Given the description of an element on the screen output the (x, y) to click on. 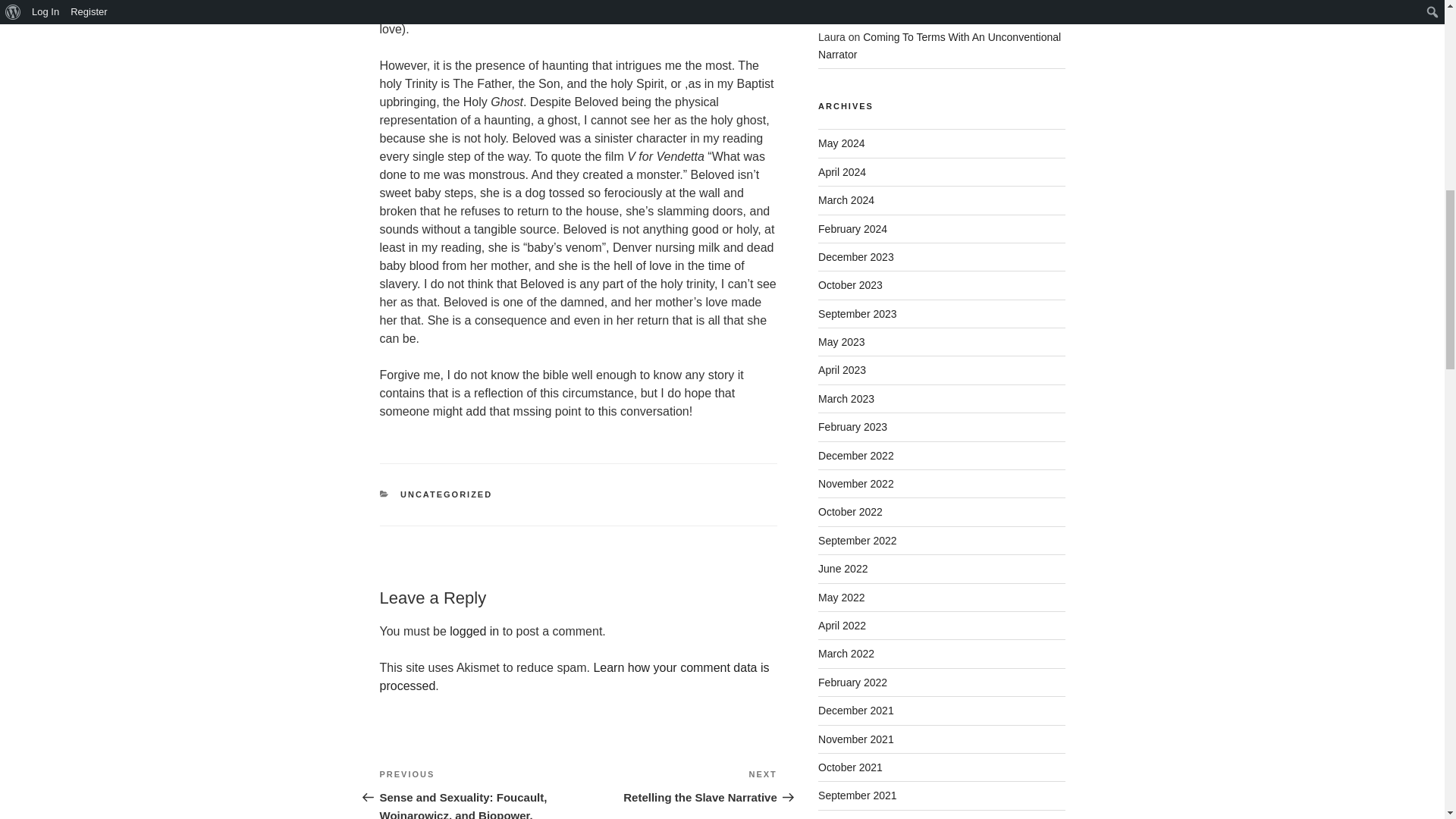
Coming To Terms With An Unconventional Narrator (939, 45)
Learn how your comment data is processed (573, 676)
Coming To Terms With An Unconventional Narrator (921, 7)
logged in (474, 631)
May 2024 (841, 143)
UNCATEGORIZED (677, 786)
